Given the description of an element on the screen output the (x, y) to click on. 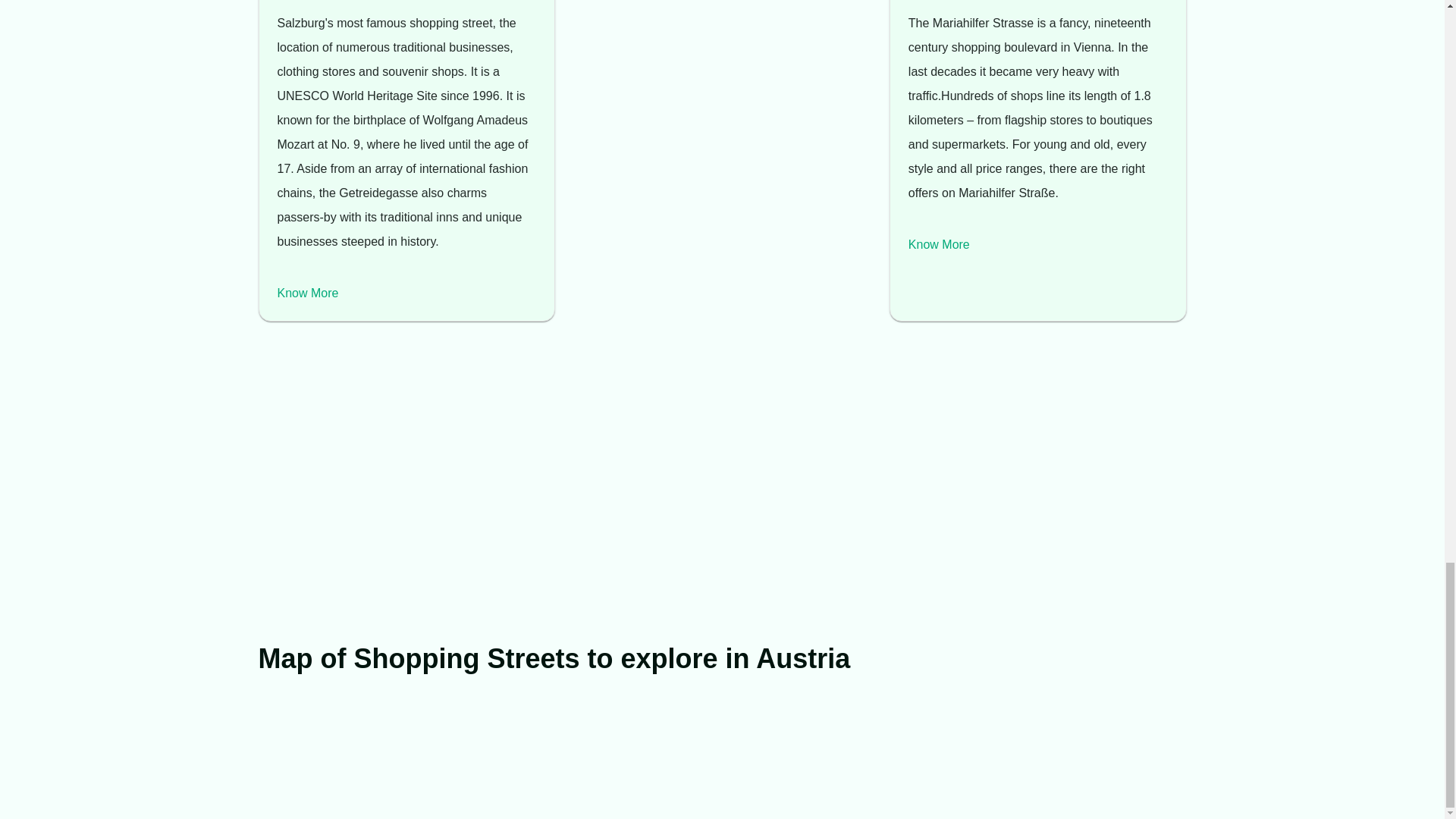
Know More (308, 292)
Know More (938, 244)
